Given the description of an element on the screen output the (x, y) to click on. 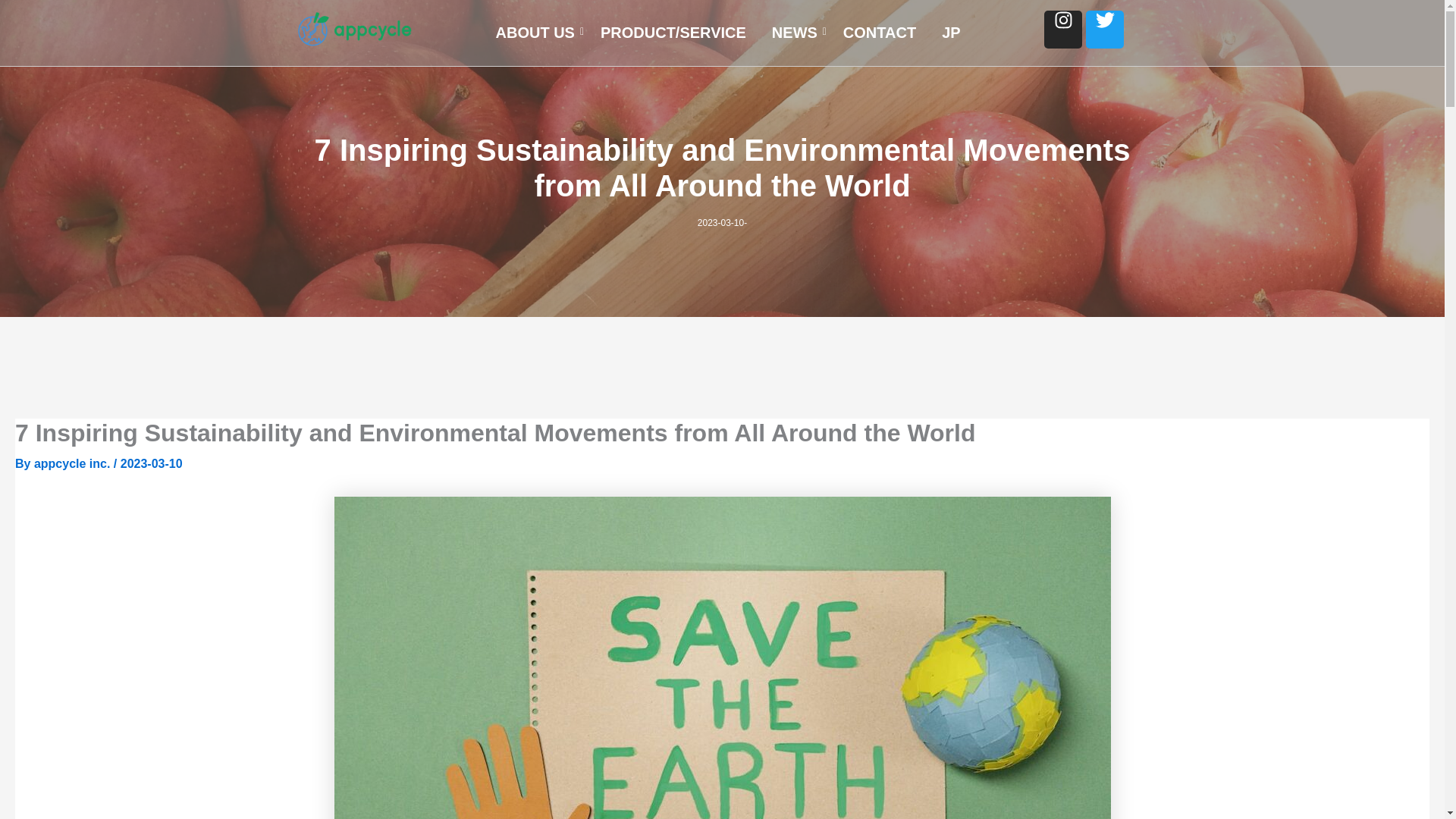
CONTACT (879, 32)
appcycle inc. (73, 463)
ABOUT US (534, 32)
NEWS (794, 32)
Instagram (1062, 29)
Twitter (1105, 29)
